Given the description of an element on the screen output the (x, y) to click on. 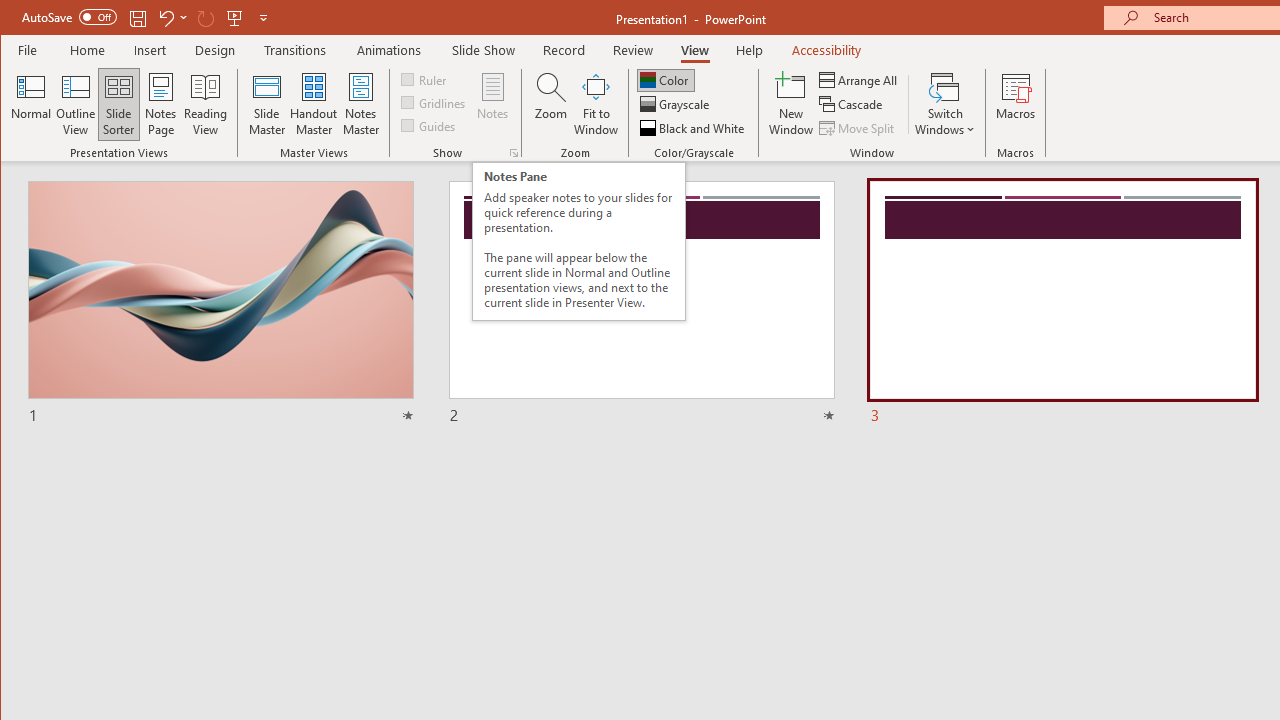
Notes Master (360, 104)
Guides (430, 124)
Outline View (75, 104)
Zoom... (550, 104)
Grayscale (676, 103)
Macros (1016, 104)
